Given the description of an element on the screen output the (x, y) to click on. 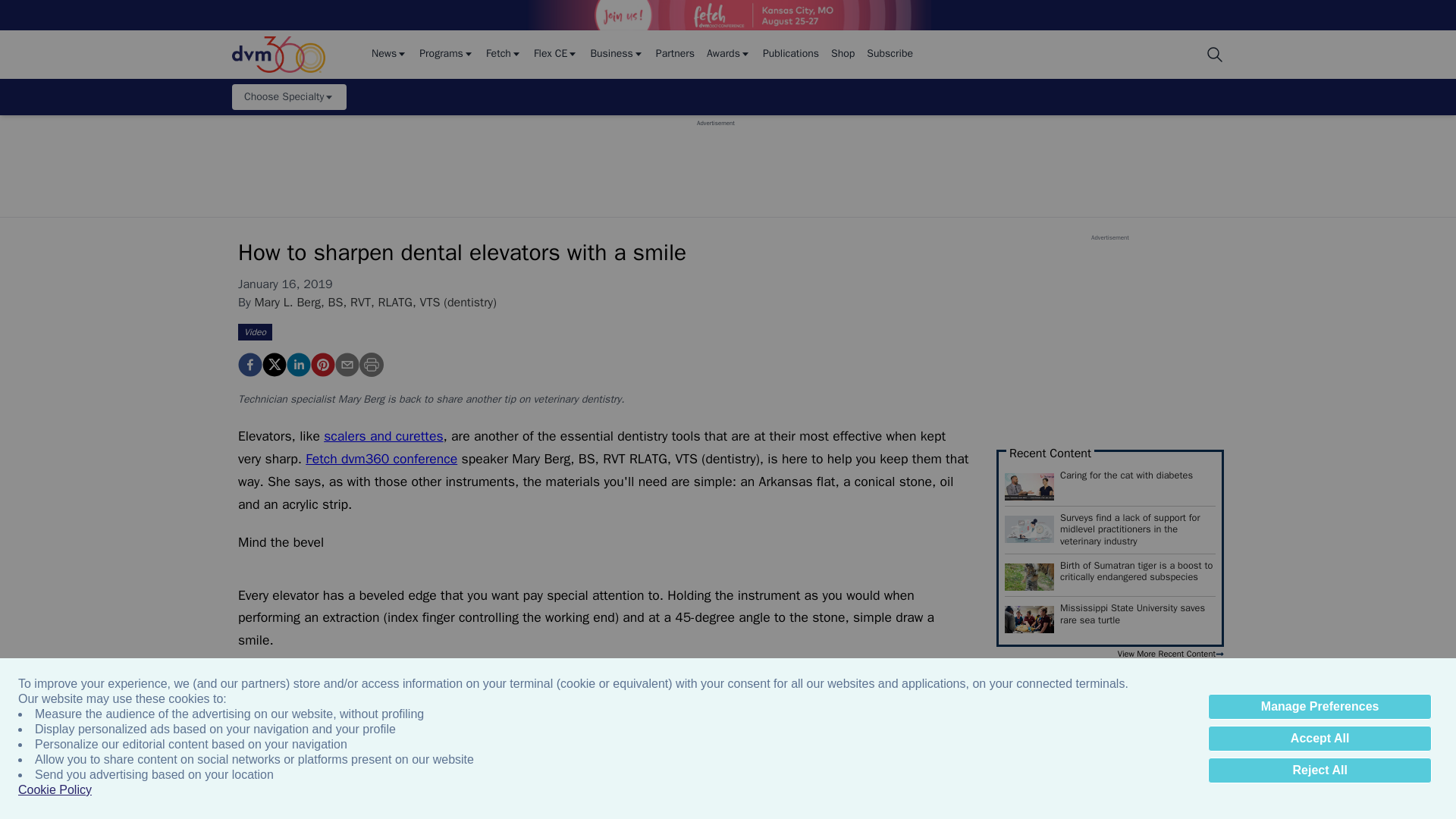
News (389, 54)
Cookie Policy (54, 789)
Fetch (503, 54)
Flex CE (556, 54)
How to sharpen dental elevators with a smile (322, 364)
How to sharpen dental elevators with a smile (250, 364)
Accept All (1319, 738)
3rd party ad content (715, 161)
Programs (446, 54)
Manage Preferences (1319, 706)
Reject All (1319, 769)
